Given the description of an element on the screen output the (x, y) to click on. 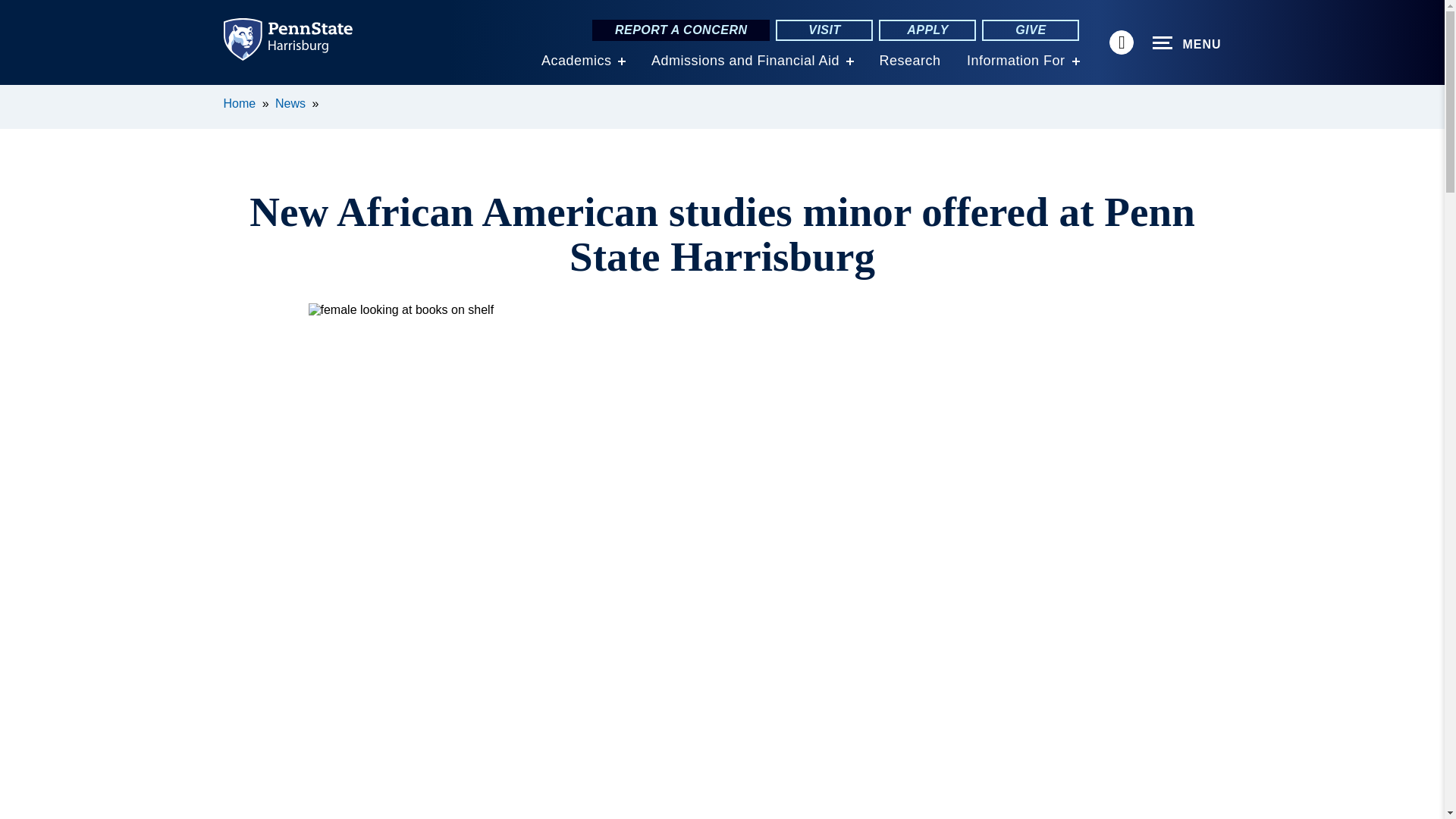
Research (909, 60)
SKIP TO MAIN CONTENT (19, 95)
Information For (1015, 60)
GIVE (1029, 29)
VISIT (824, 29)
MENU (1187, 43)
Academics (576, 60)
Admissions and Financial Aid (745, 60)
APPLY (927, 29)
REPORT A CONCERN (681, 29)
